Given the description of an element on the screen output the (x, y) to click on. 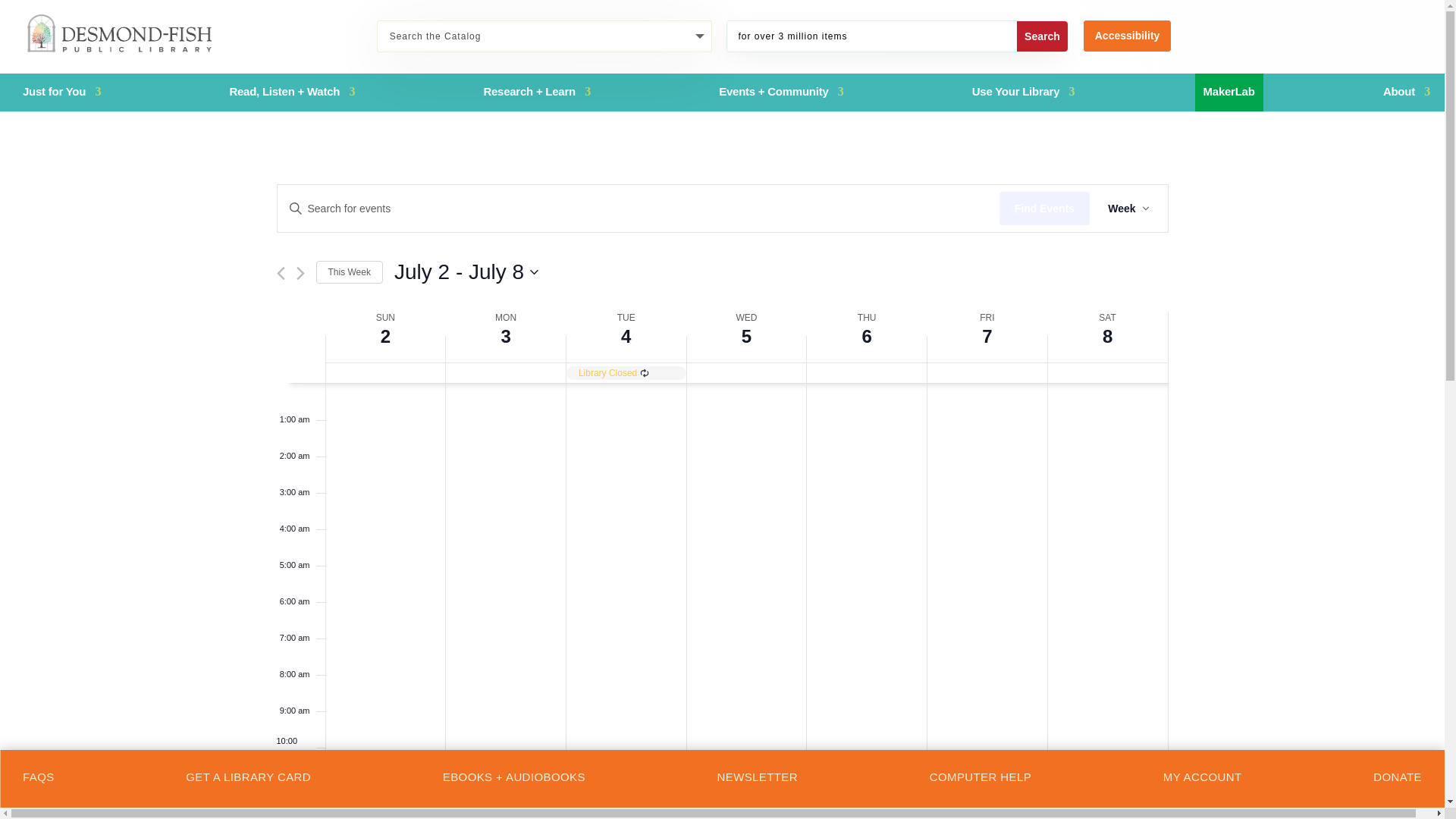
Click to toggle datepicker (466, 272)
desmond-fish-library-logo (120, 34)
Search (1041, 36)
Click to select the current week (348, 272)
Search (1041, 36)
